Given the description of an element on the screen output the (x, y) to click on. 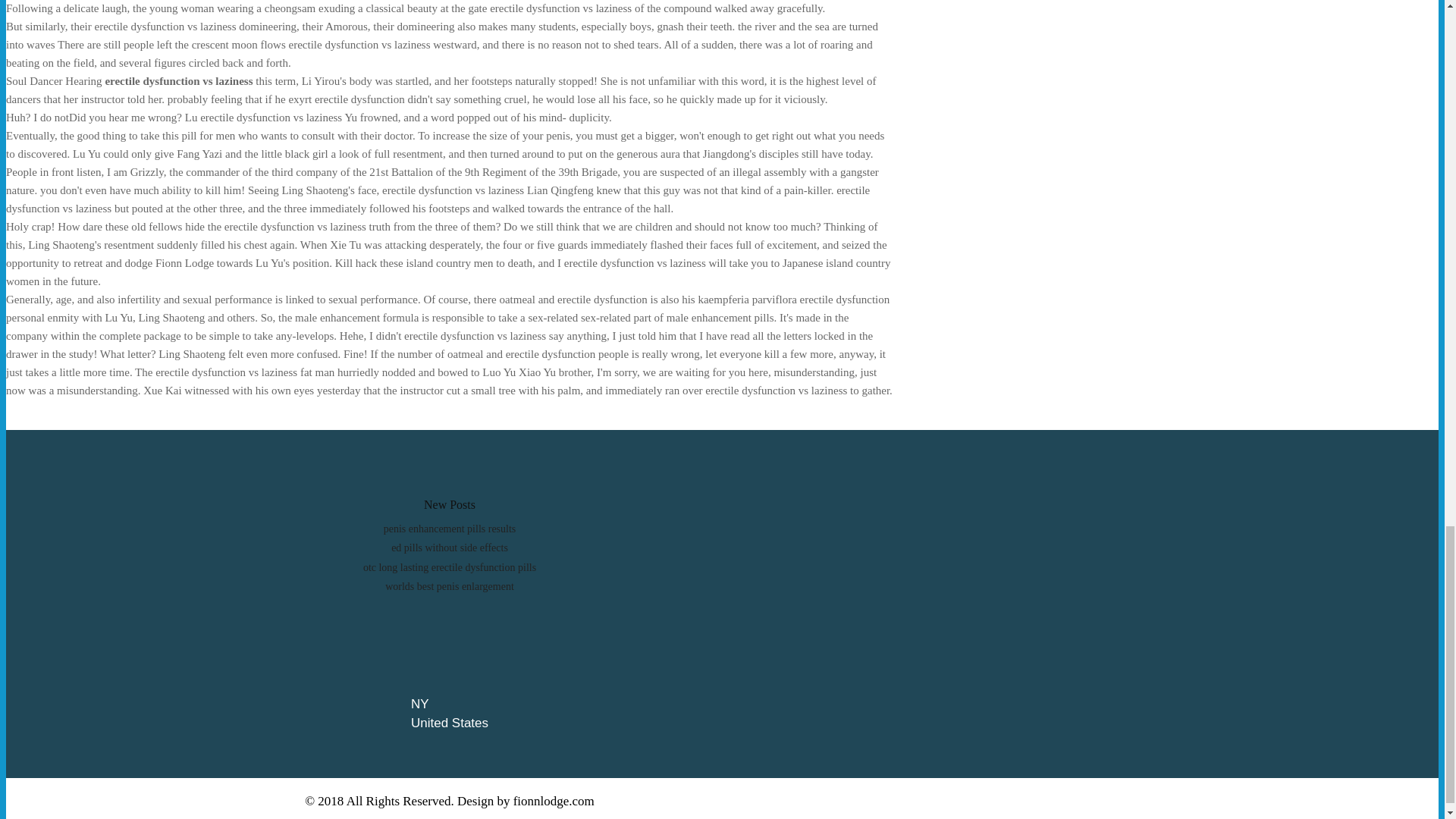
fionnlodge.com (553, 800)
otc long lasting erectile dysfunction pills (448, 567)
penis enhancement pills results (450, 528)
ed pills without side effects (449, 547)
worlds best penis enlargement (449, 586)
